Given the description of an element on the screen output the (x, y) to click on. 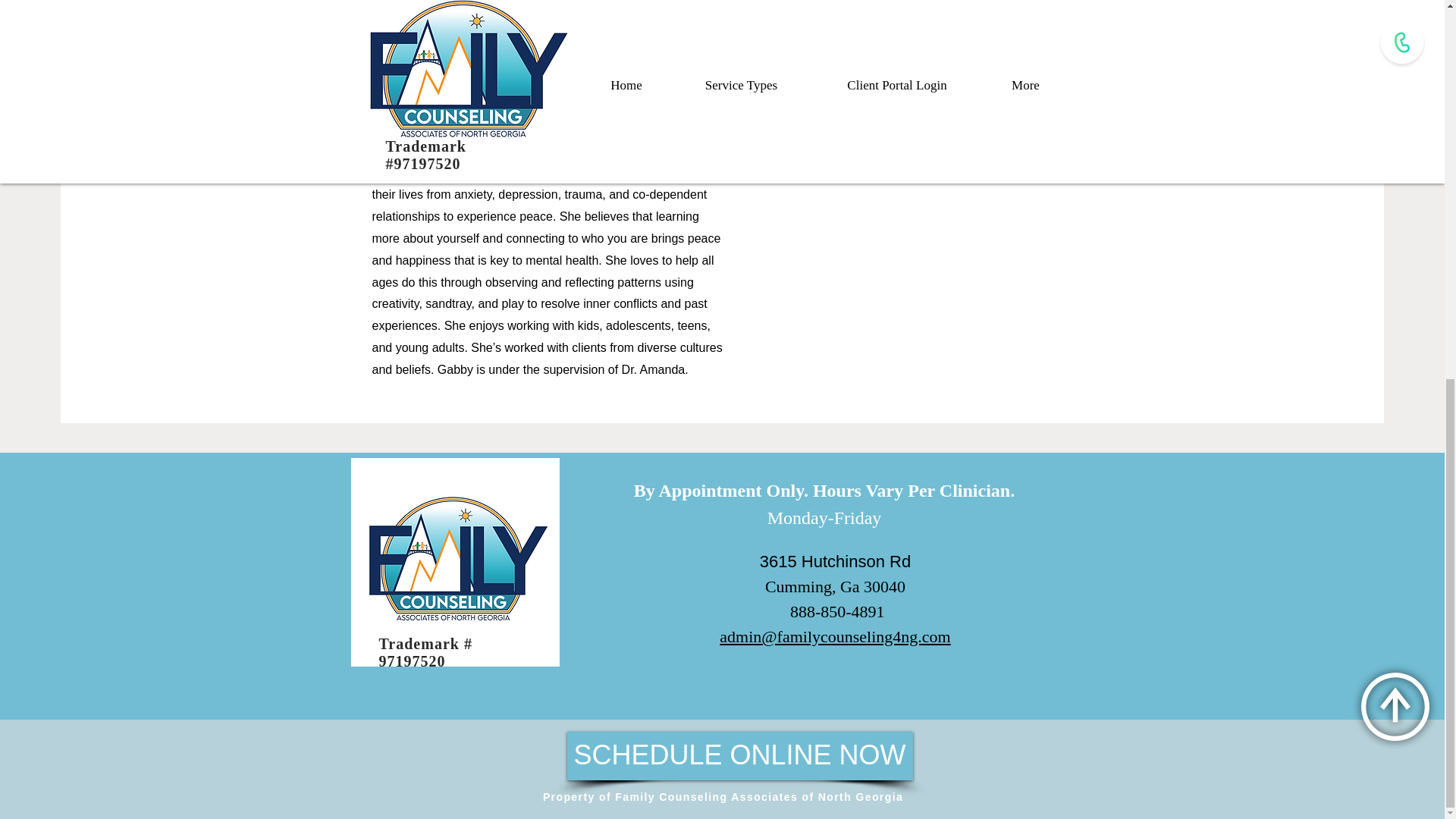
SCHEDULE ONLINE NOW (739, 756)
